Given the description of an element on the screen output the (x, y) to click on. 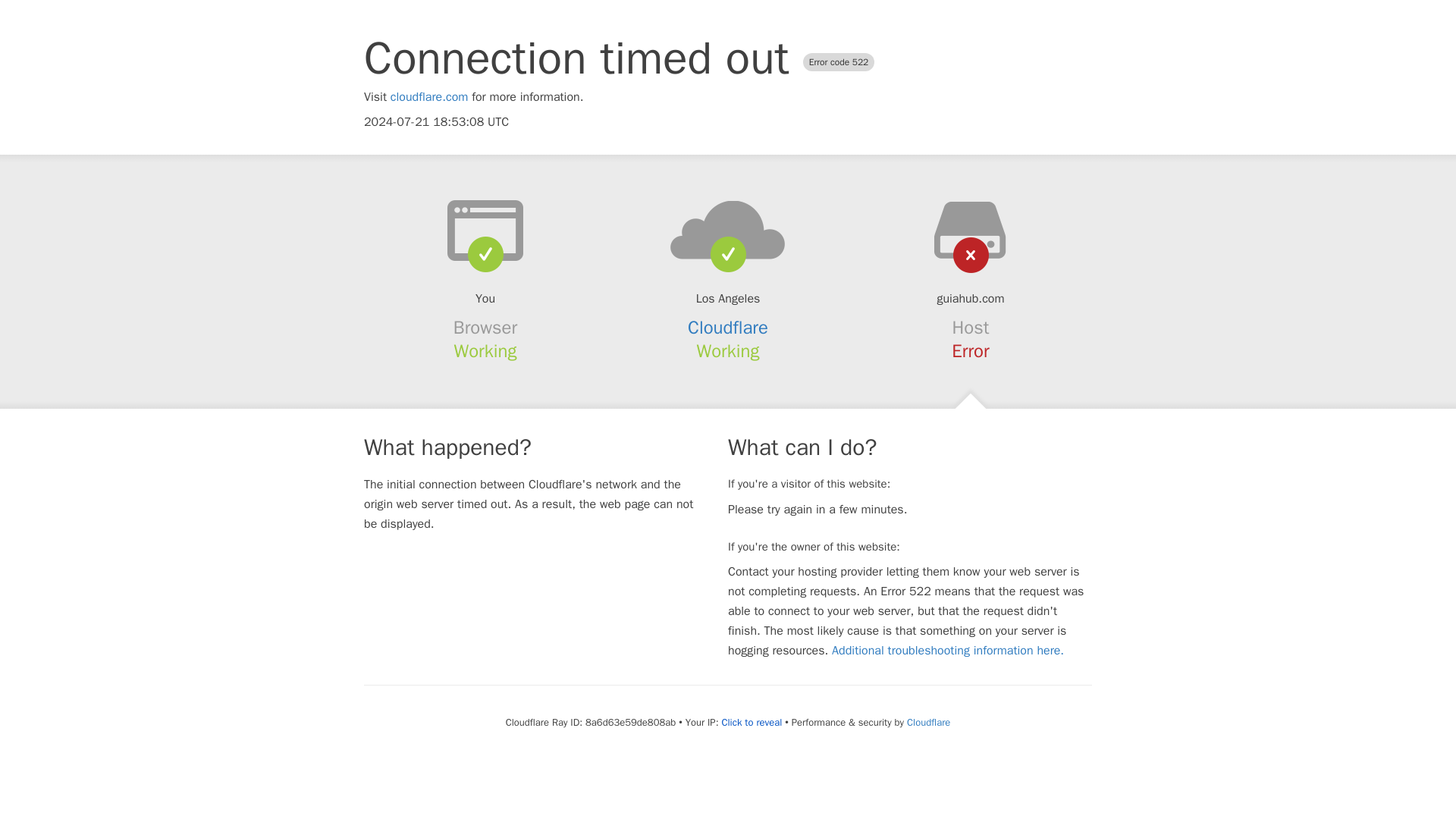
cloudflare.com (429, 96)
Cloudflare (727, 327)
Click to reveal (750, 722)
Additional troubleshooting information here. (947, 650)
Cloudflare (928, 721)
